Given the description of an element on the screen output the (x, y) to click on. 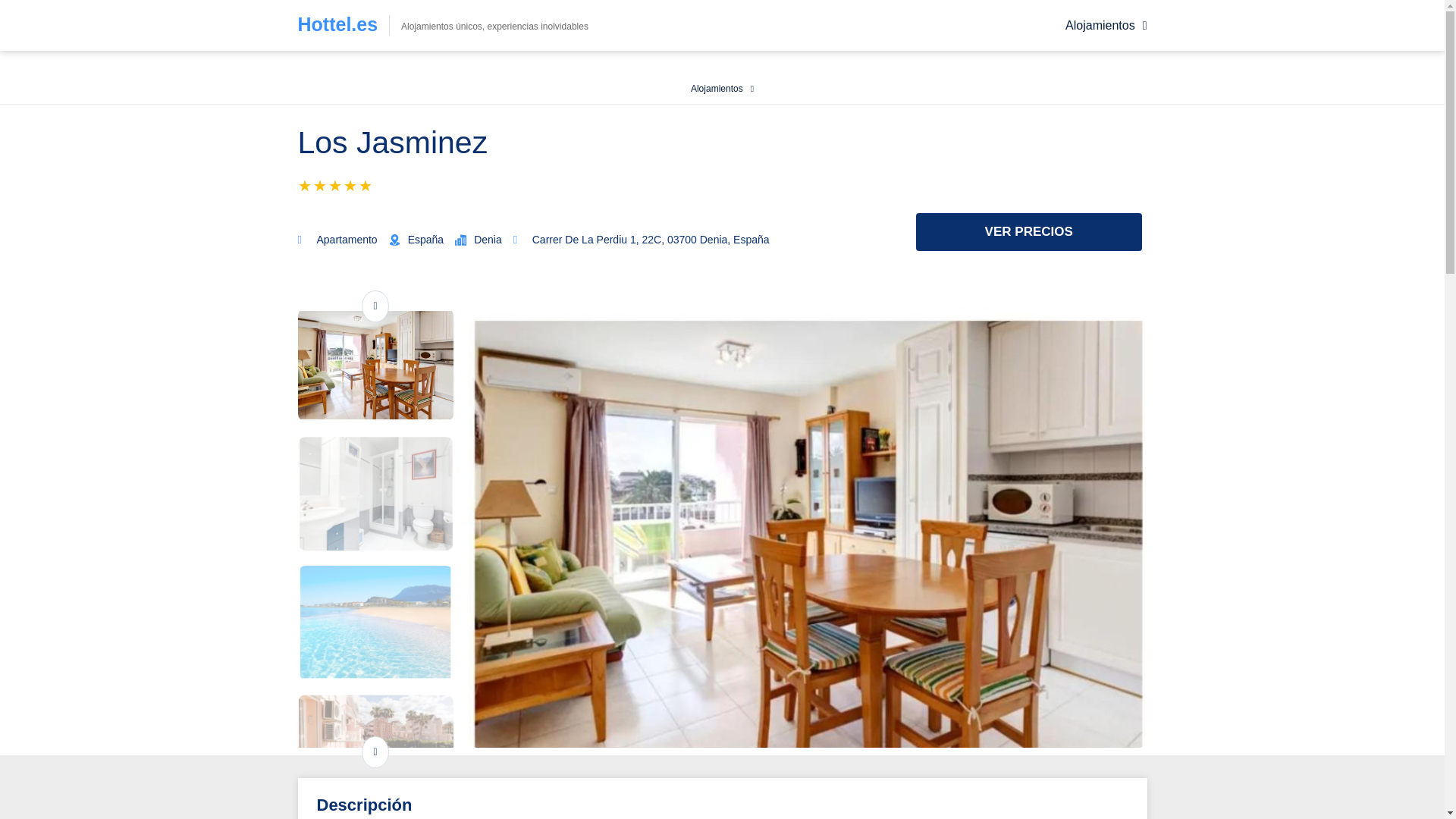
Alojamientos (1106, 25)
Hottel.es (337, 24)
Alojamientos (722, 88)
